Given the description of an element on the screen output the (x, y) to click on. 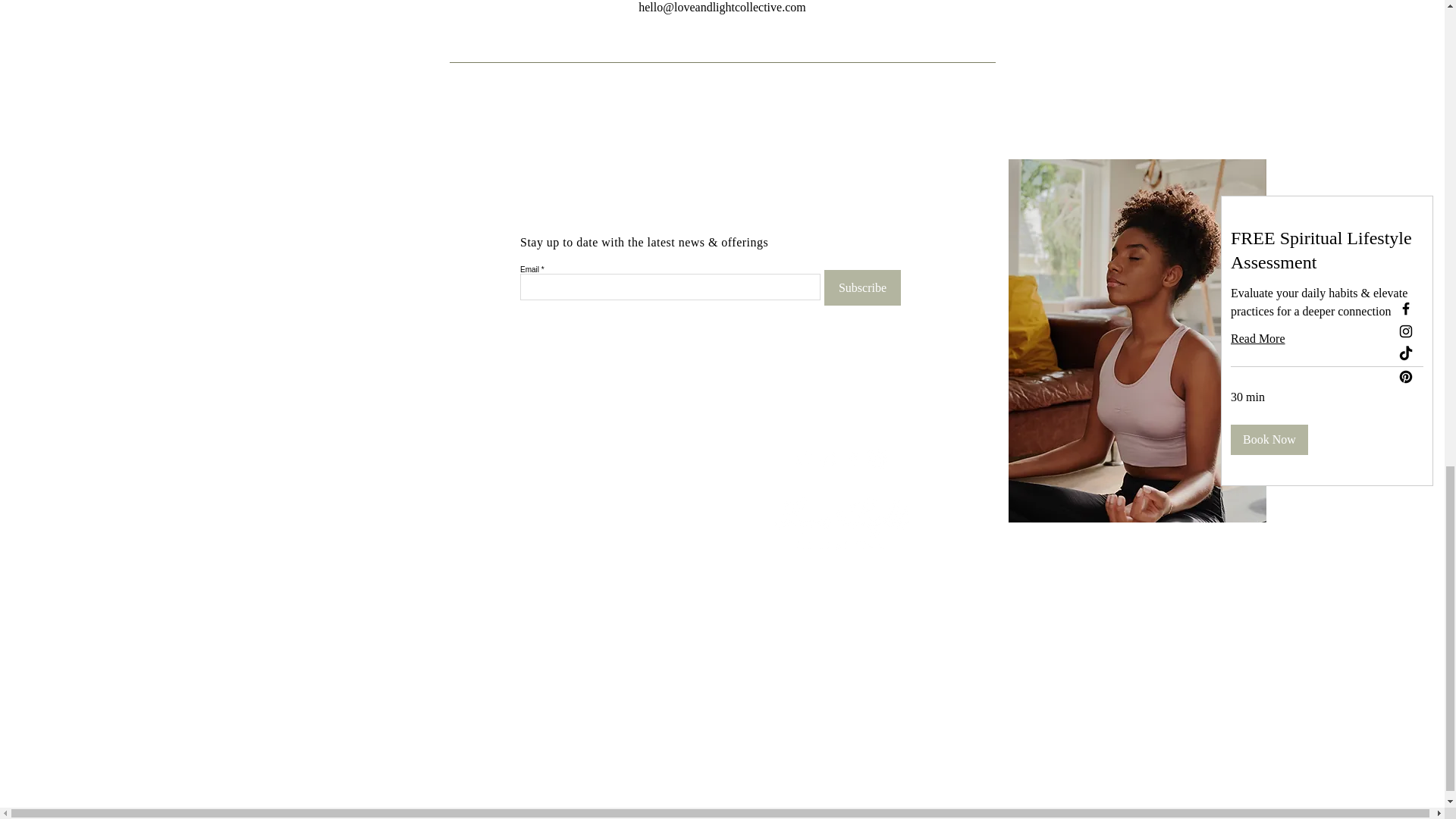
RESOURCES (491, 525)
CONTACT (486, 550)
WORK WITH ME (502, 474)
FREE Spiritual Lifestyle Assessment (1326, 250)
HOME (477, 449)
Subscribe (862, 287)
THE AWAKENED DIVINE QUEENS (544, 500)
Read More (1326, 339)
Book Now (1268, 440)
